Given the description of an element on the screen output the (x, y) to click on. 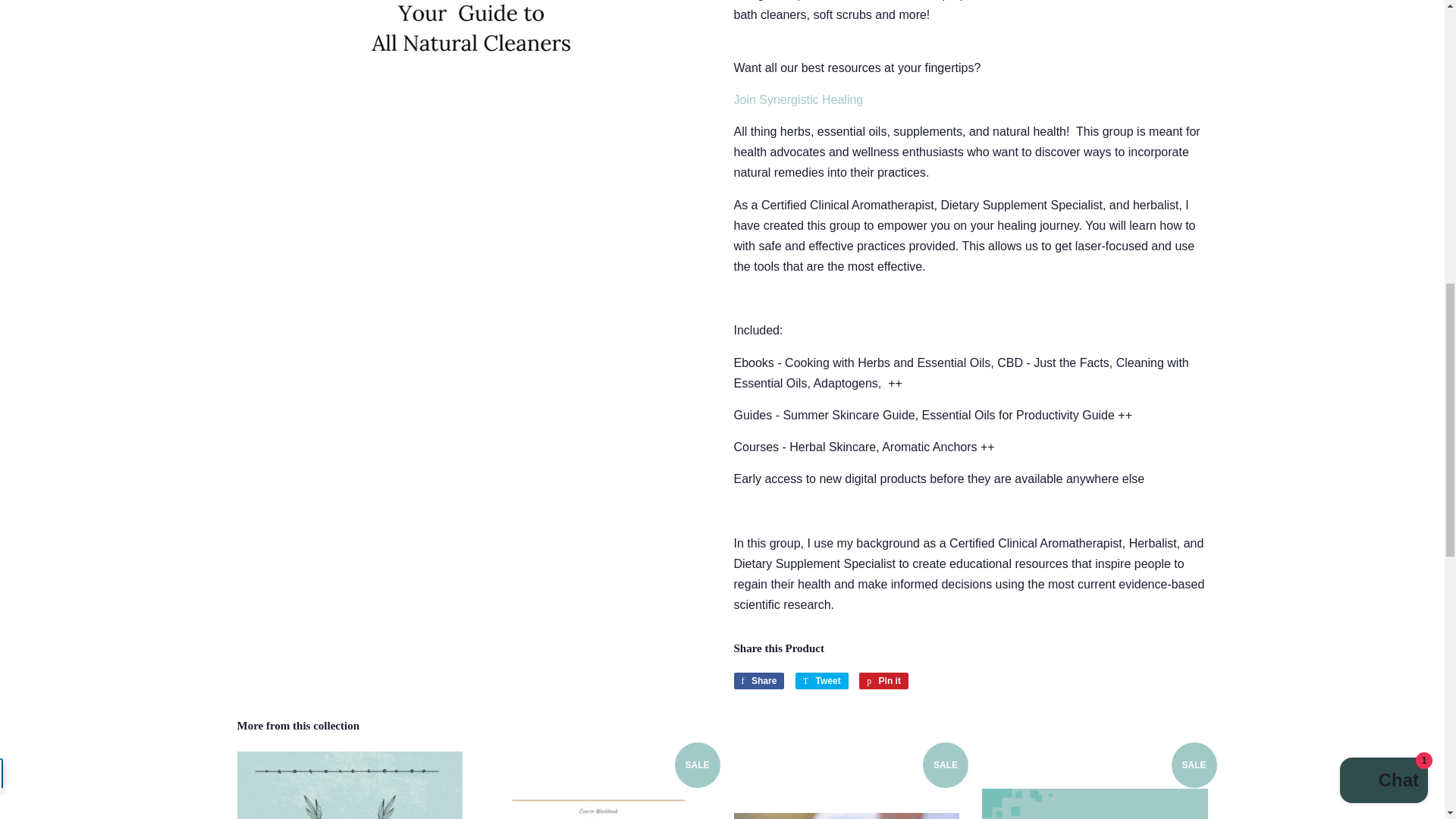
Share on Facebook (758, 680)
Pin on Pinterest (883, 680)
Tweet on Twitter (758, 680)
Join Synergistic Healing (821, 680)
